Given the description of an element on the screen output the (x, y) to click on. 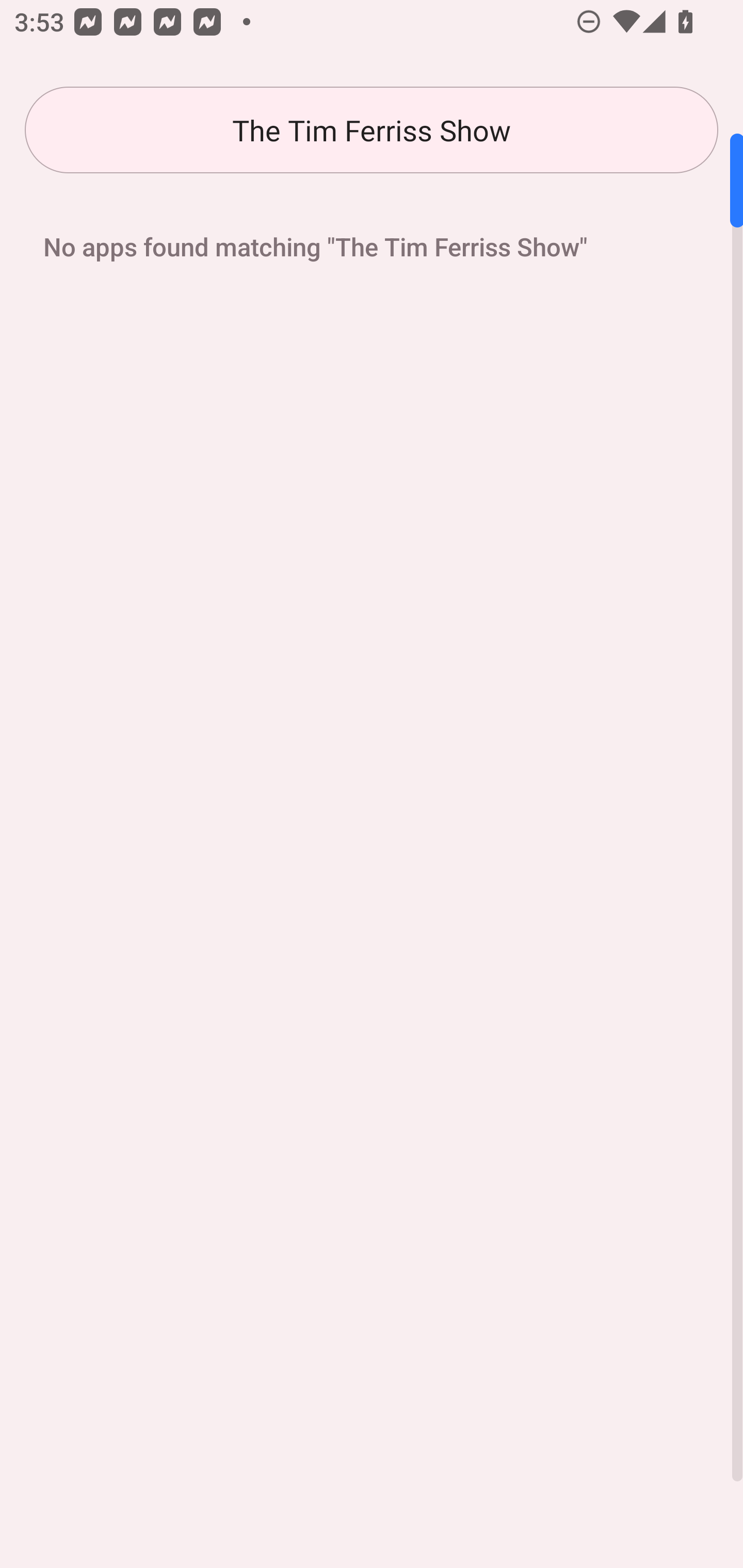
The Tim Ferriss Show (371, 130)
